Given the description of an element on the screen output the (x, y) to click on. 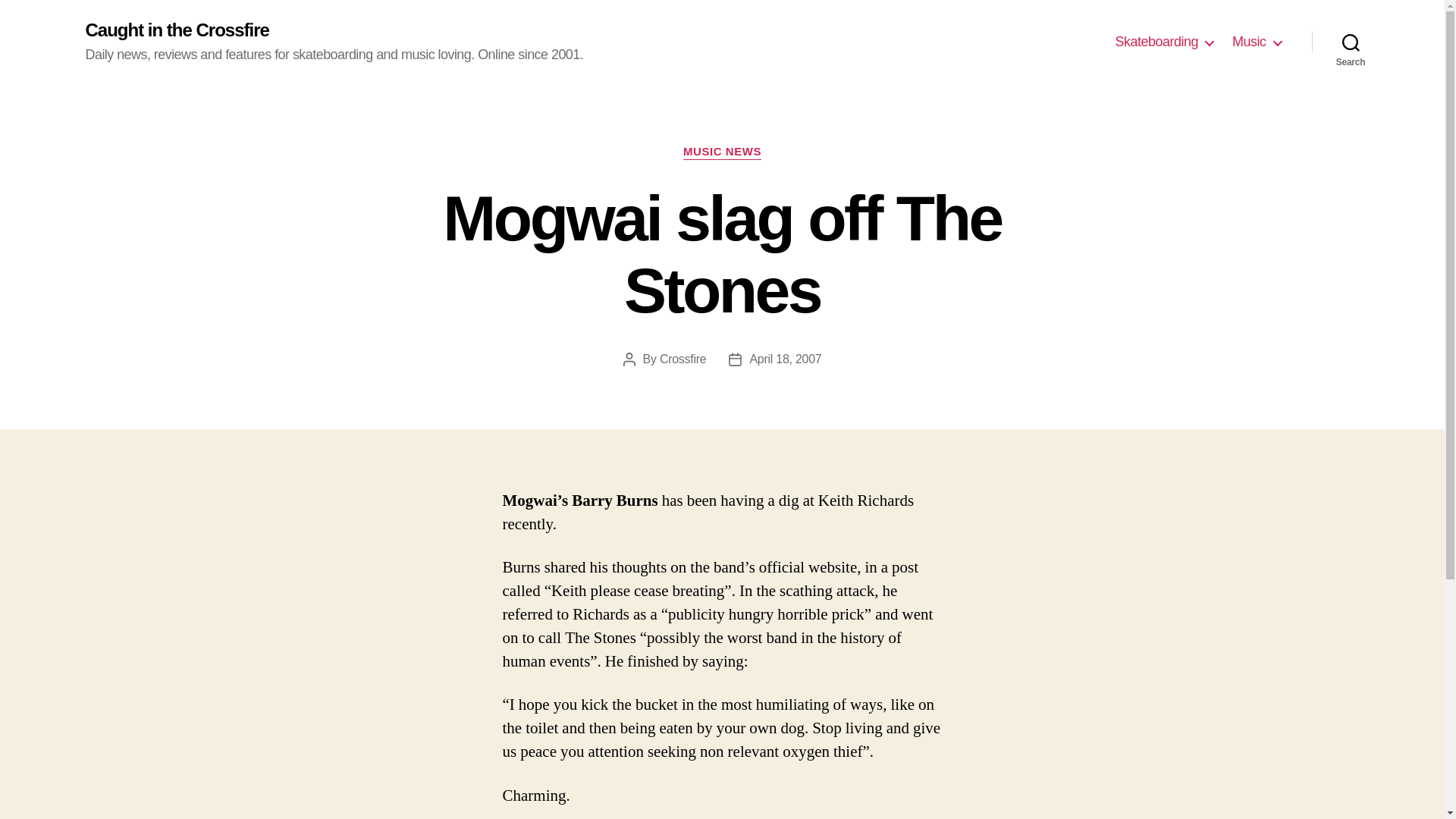
Caught in the Crossfire (175, 30)
Skateboarding (1163, 42)
Search (1350, 41)
Music (1256, 42)
